Given the description of an element on the screen output the (x, y) to click on. 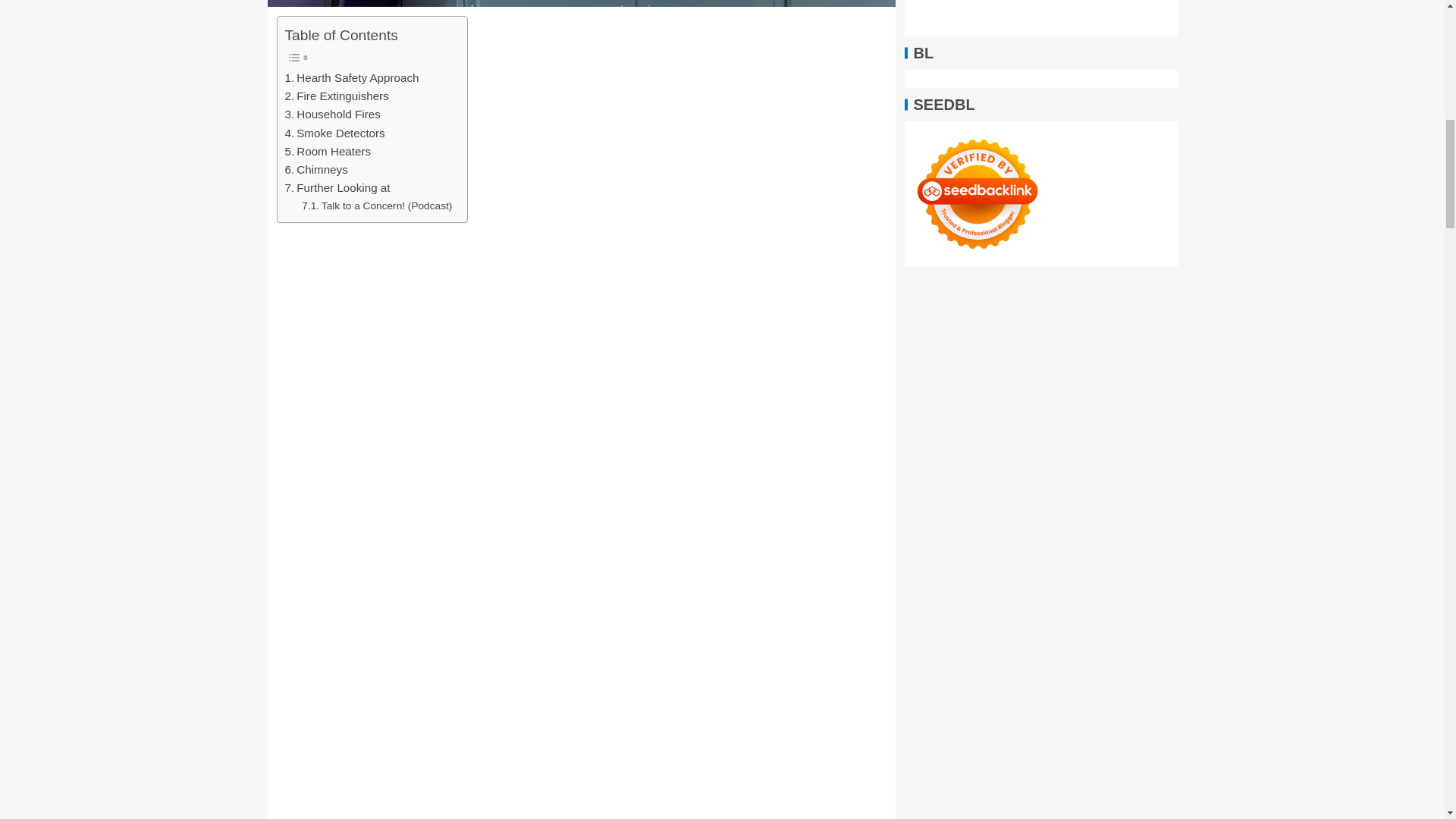
Further Looking at (337, 188)
Fire Extinguishers (336, 95)
Chimneys (316, 169)
Smoke Detectors (335, 133)
Smoke Detectors (335, 133)
Hearth Safety Approach (352, 77)
Room Heaters (328, 151)
Fire Extinguishers (336, 95)
Chimneys (316, 169)
Household Fires (332, 114)
Household Fires (332, 114)
Room Heaters (328, 151)
Further Looking at (337, 188)
Hearth Safety Approach (352, 77)
